Given the description of an element on the screen output the (x, y) to click on. 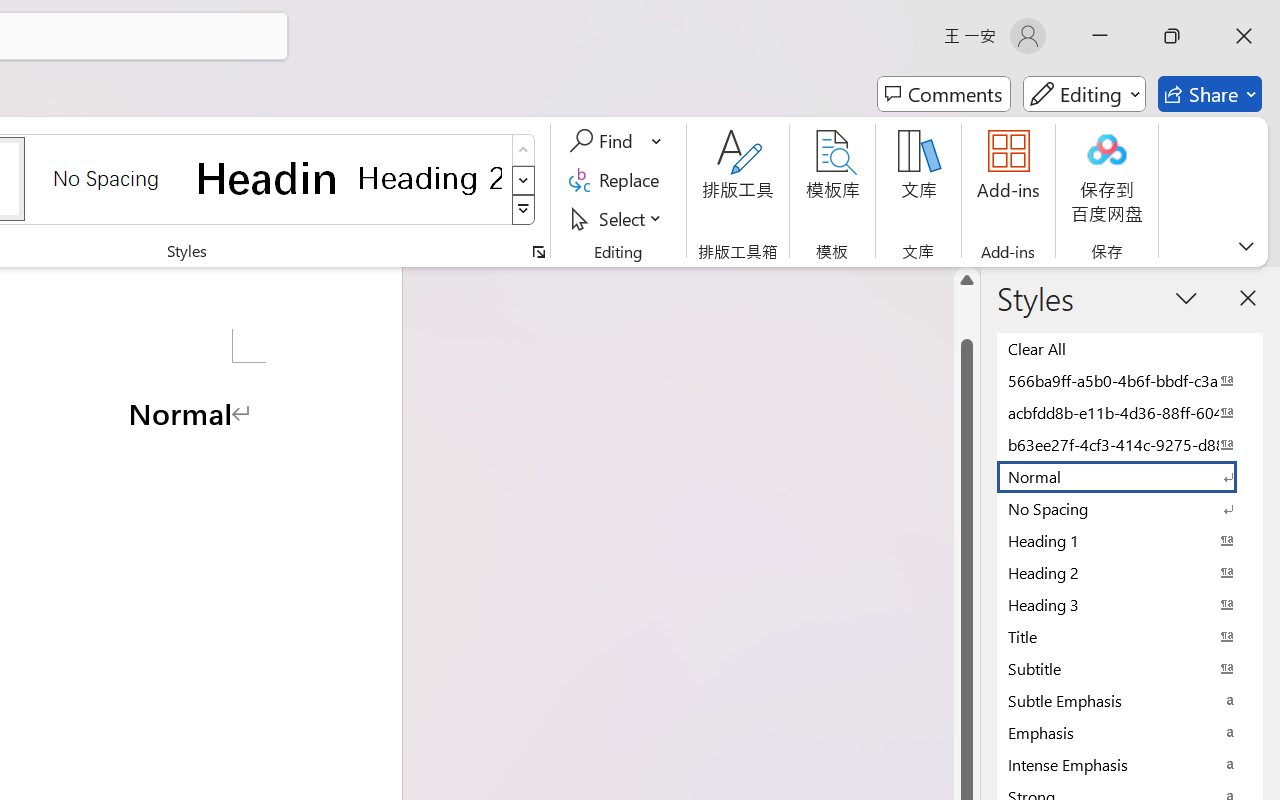
Clear All (1130, 348)
Line up (966, 279)
Mode (1083, 94)
Title (1130, 636)
566ba9ff-a5b0-4b6f-bbdf-c3ab41993fc2 (1130, 380)
Row Down (523, 180)
Heading 3 (1130, 604)
Page up (966, 315)
No Spacing (1130, 508)
